Given the description of an element on the screen output the (x, y) to click on. 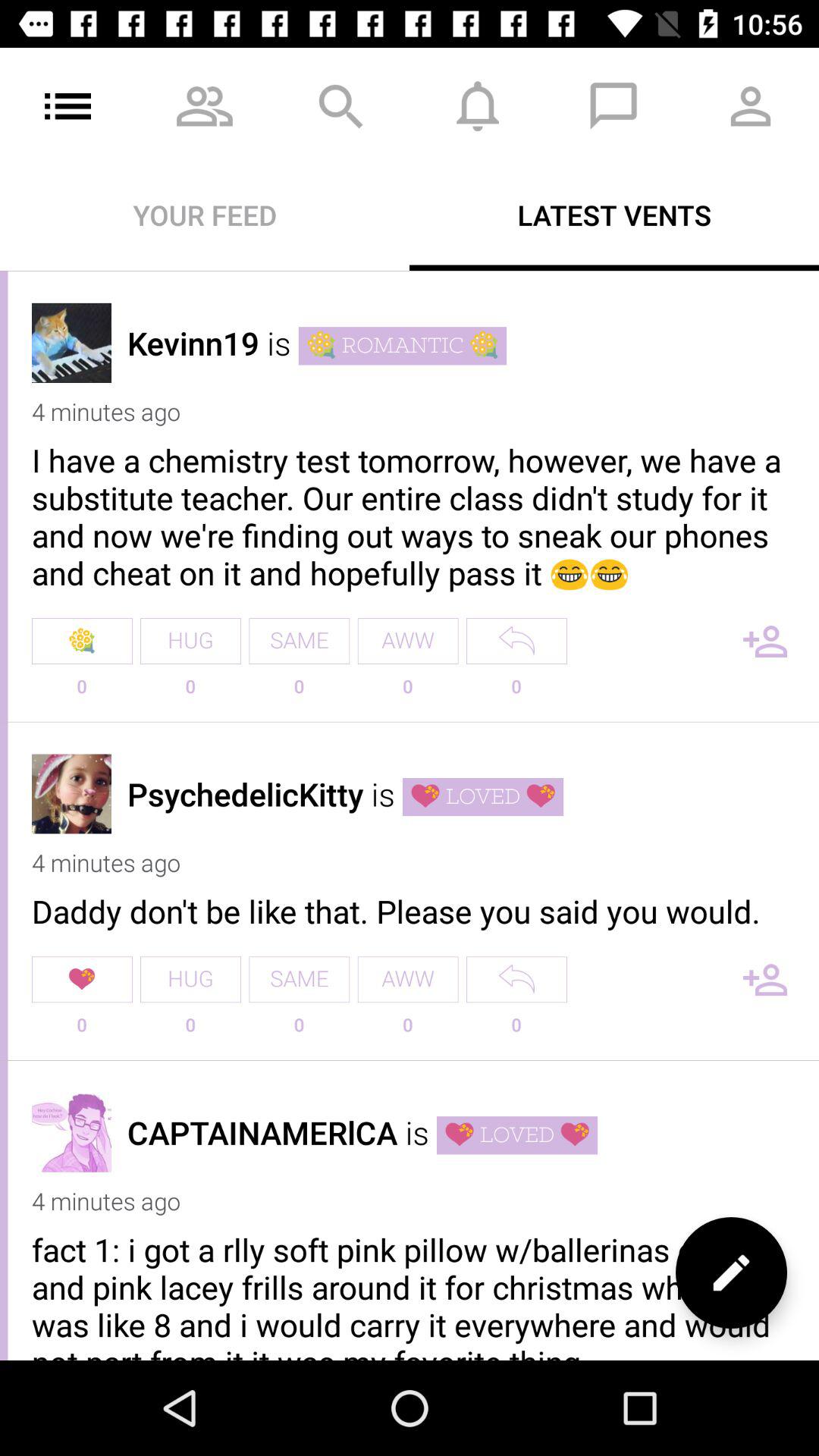
add friend (765, 641)
